Given the description of an element on the screen output the (x, y) to click on. 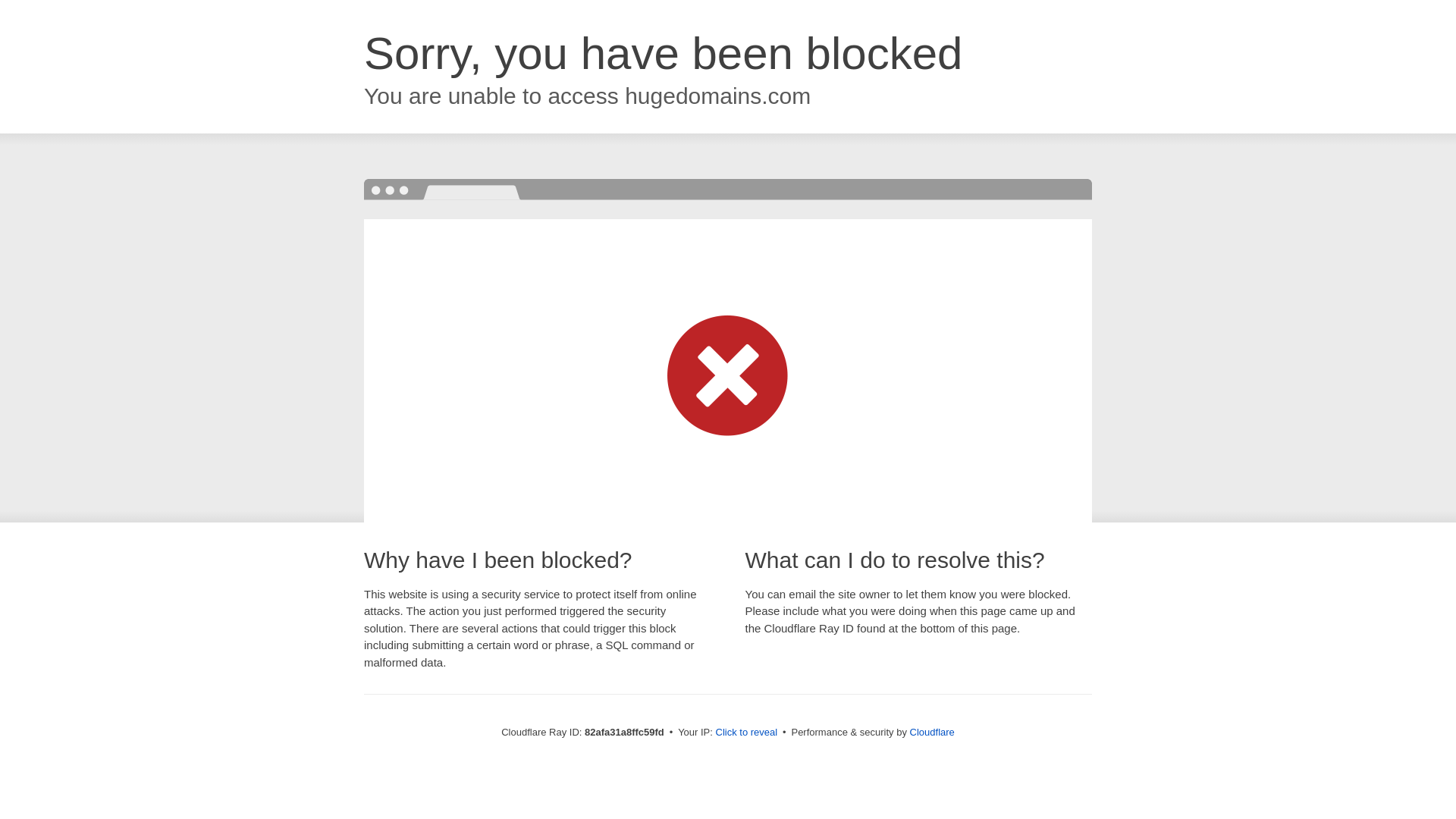
Cloudflare Element type: text (932, 731)
Click to reveal Element type: text (746, 732)
